Given the description of an element on the screen output the (x, y) to click on. 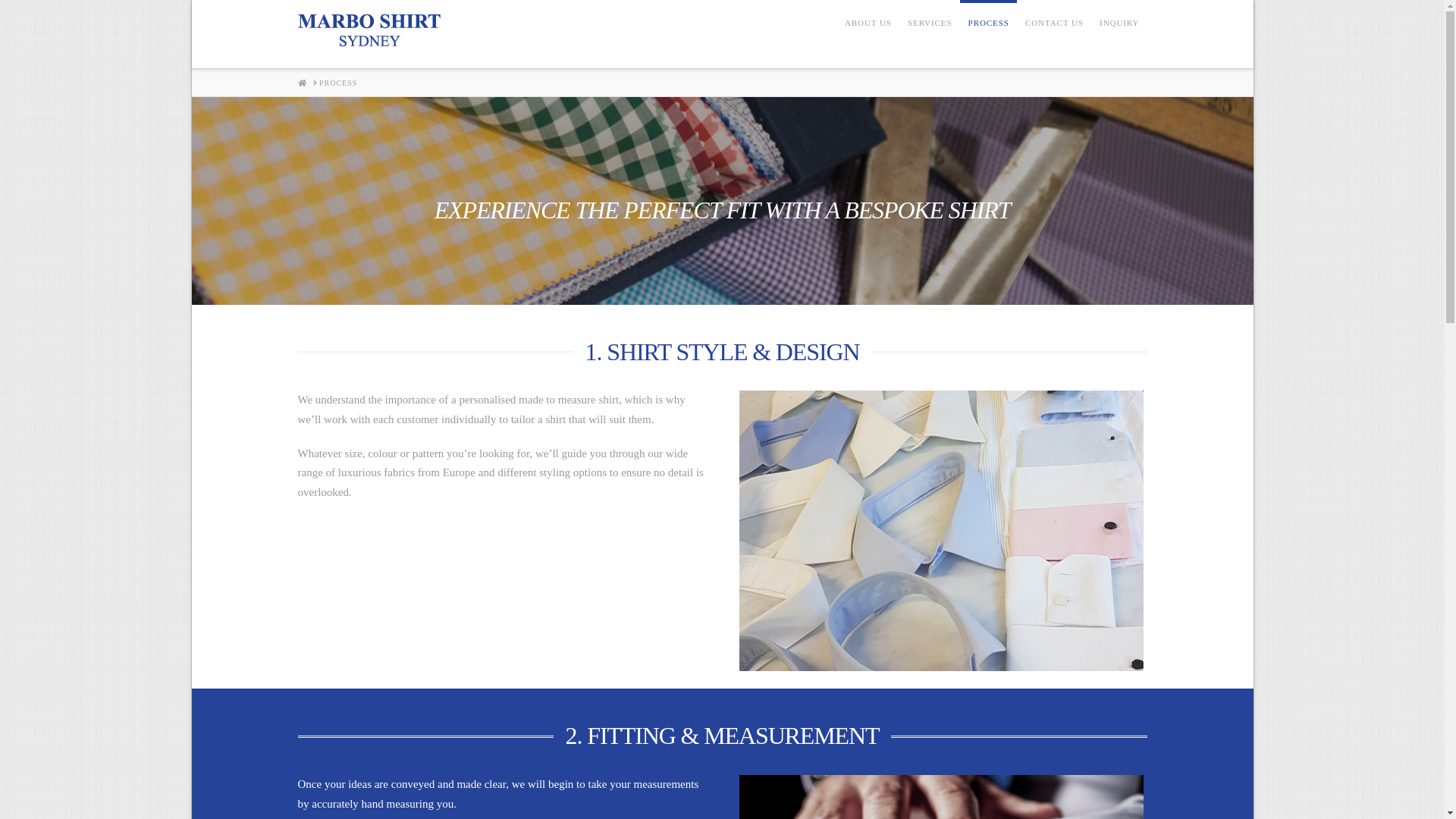
SERVICES Element type: text (929, 34)
INQUIRY Element type: text (1118, 34)
CONTACT US Element type: text (1053, 34)
PROCESS Element type: text (338, 82)
ABOUT US Element type: text (867, 34)
PROCESS Element type: text (988, 34)
HOME Element type: text (301, 82)
